Given the description of an element on the screen output the (x, y) to click on. 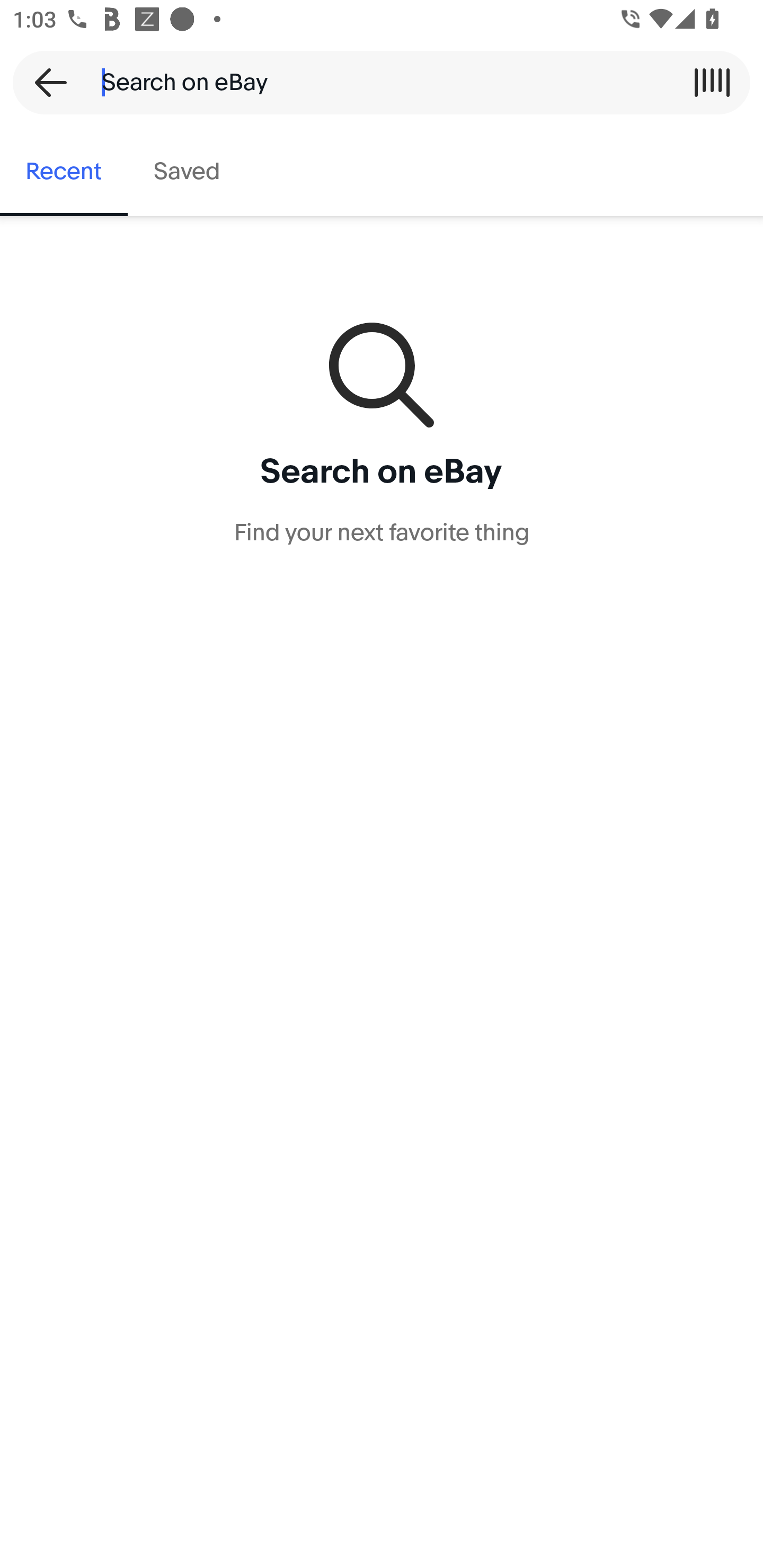
Back (44, 82)
Scan a barcode (711, 82)
Search on eBay (375, 82)
Saved, tab 2 of 2 Saved (186, 171)
